Given the description of an element on the screen output the (x, y) to click on. 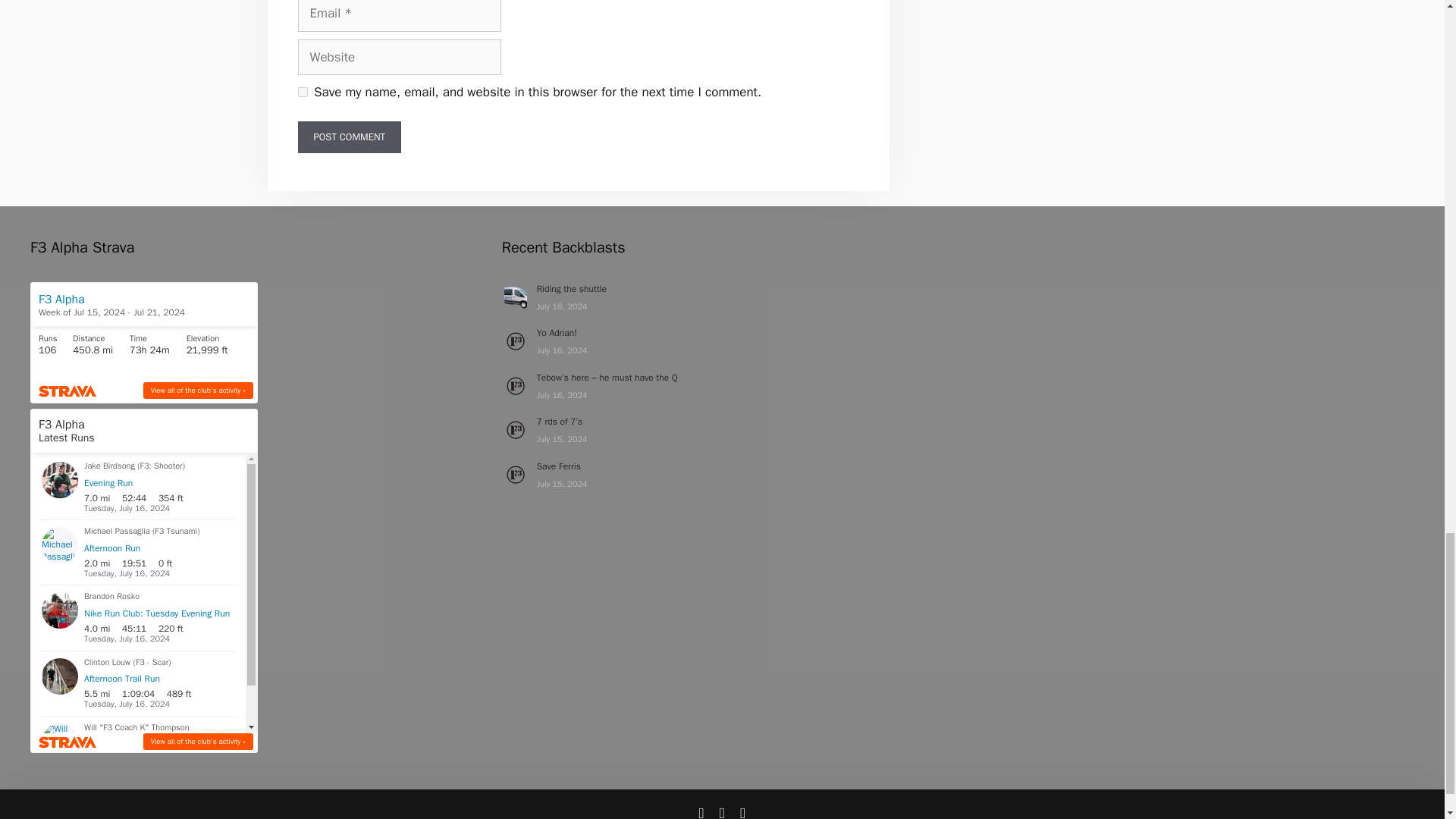
Post Comment (349, 137)
yes (302, 91)
